Given the description of an element on the screen output the (x, y) to click on. 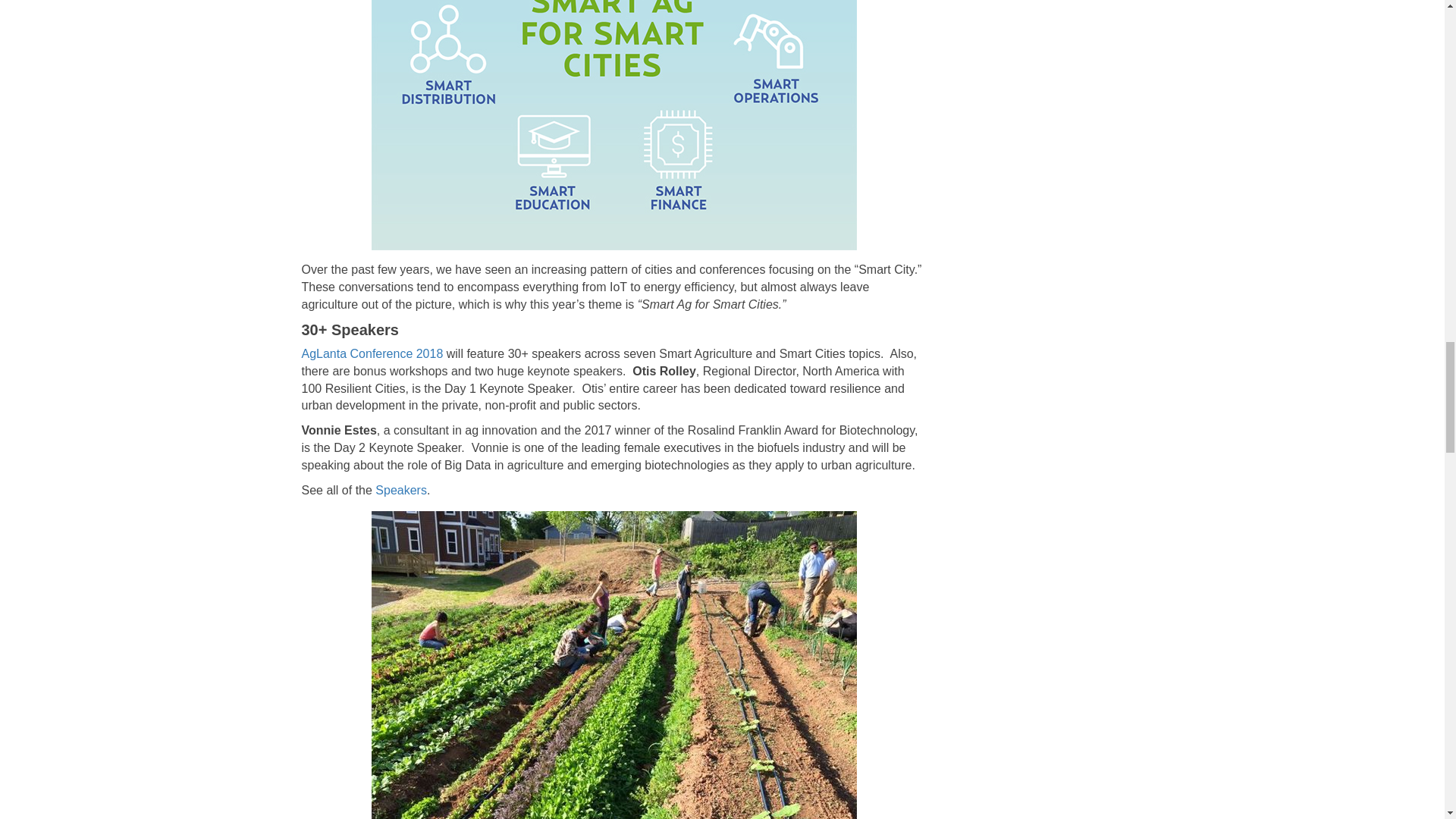
Speakers (400, 490)
AgLanta Conference 2018 (372, 353)
